Given the description of an element on the screen output the (x, y) to click on. 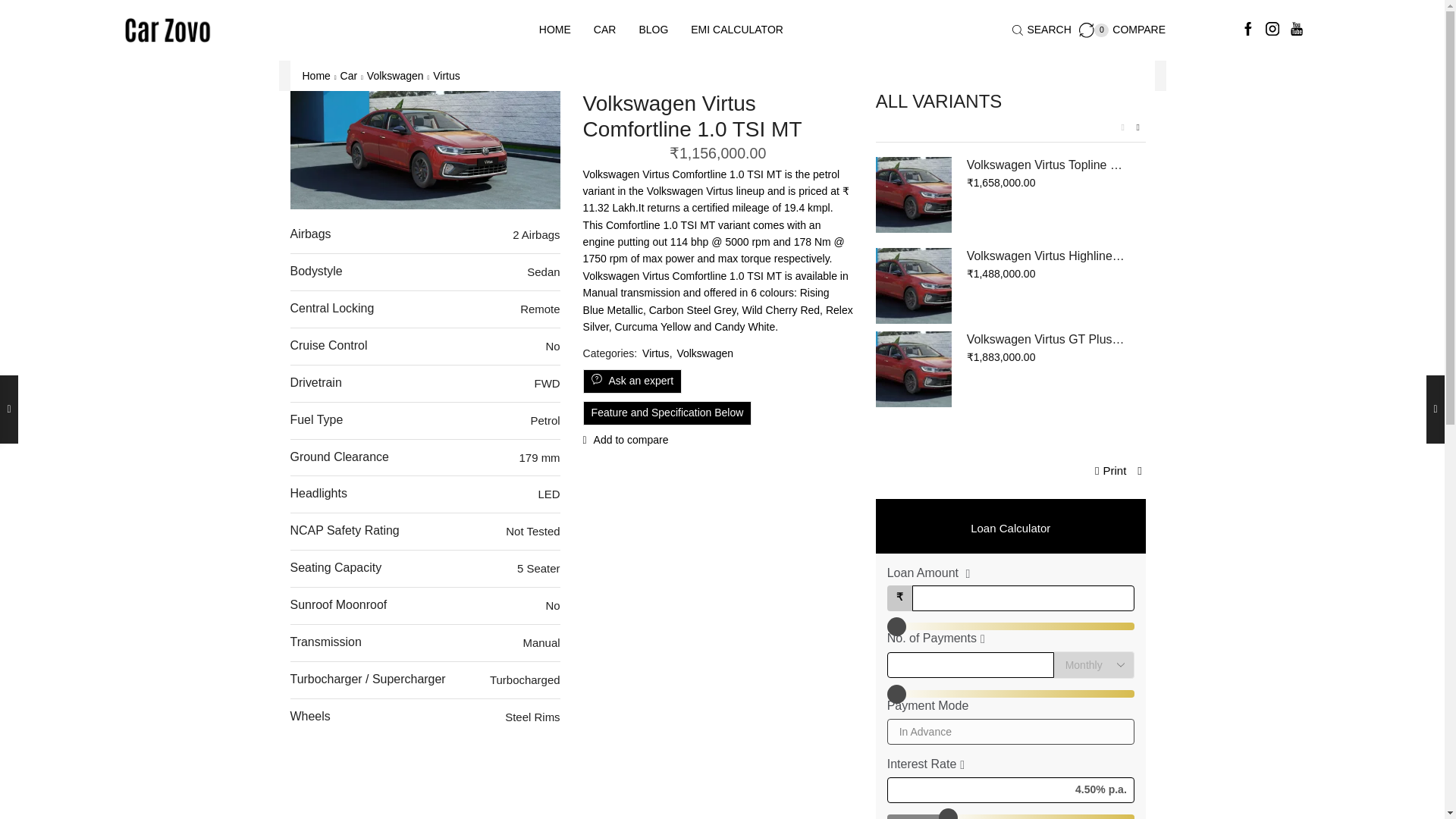
12 (1010, 693)
HOME (554, 30)
4.5 (1010, 816)
CAR (604, 30)
Volkswagen Virtus Topline 1.0 TSI AT (1046, 165)
BLOG (653, 30)
Volkswagen Virtus GT Plus 1.5 TSI EVO DSG (914, 369)
10000 (1122, 29)
Volkswagen Virtus Topline 1.0 TSI AT (1010, 625)
EMI CALCULATOR (914, 194)
Volkswagen Virtus Highline 1.0 TSI AT (736, 30)
Volkswagen Virtus Highline 1.0 TSI AT (1046, 256)
